Given the description of an element on the screen output the (x, y) to click on. 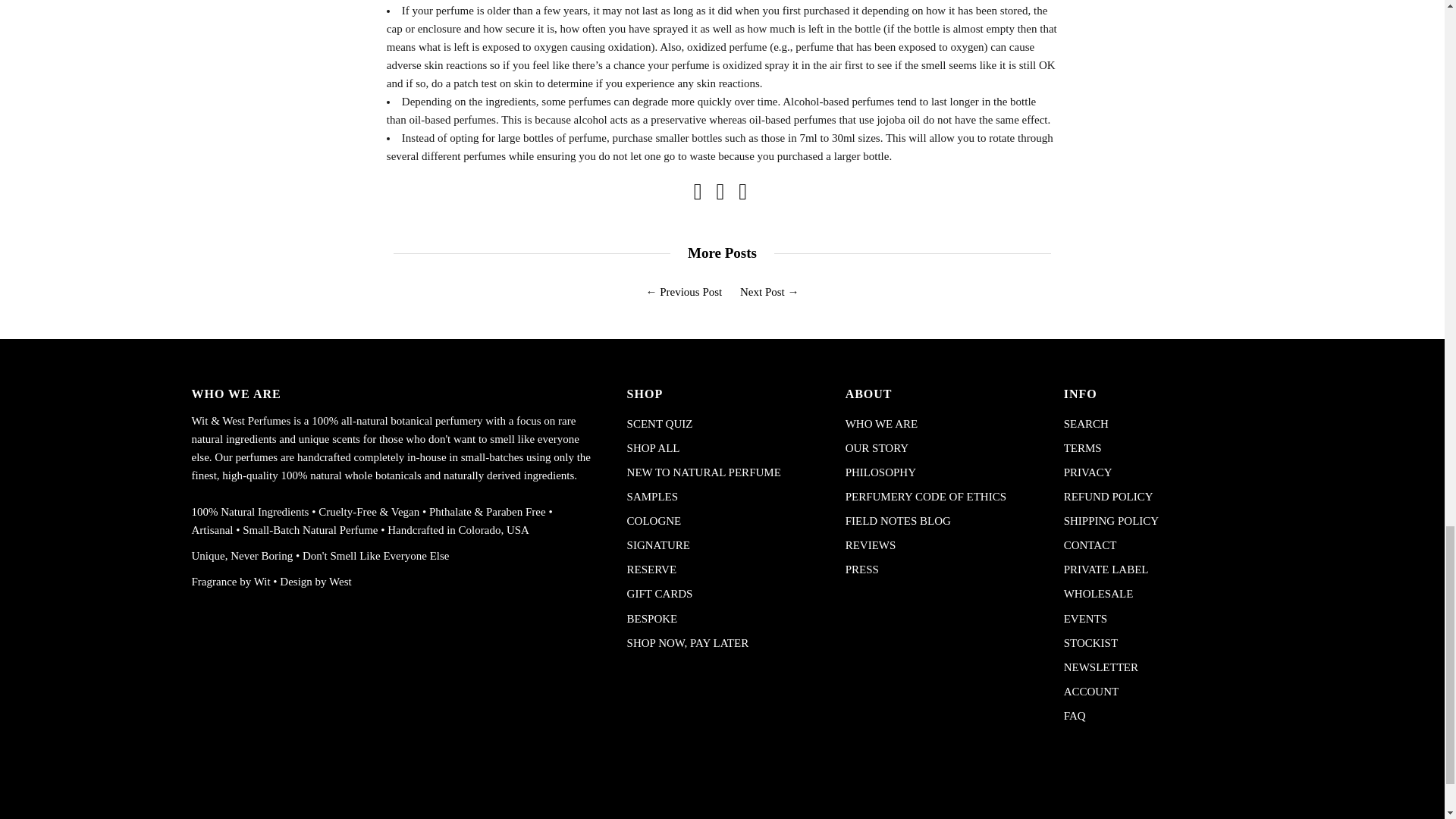
Share on Twitter (719, 195)
Share on Pinterest (742, 195)
Share on Facebook (697, 195)
